Given the description of an element on the screen output the (x, y) to click on. 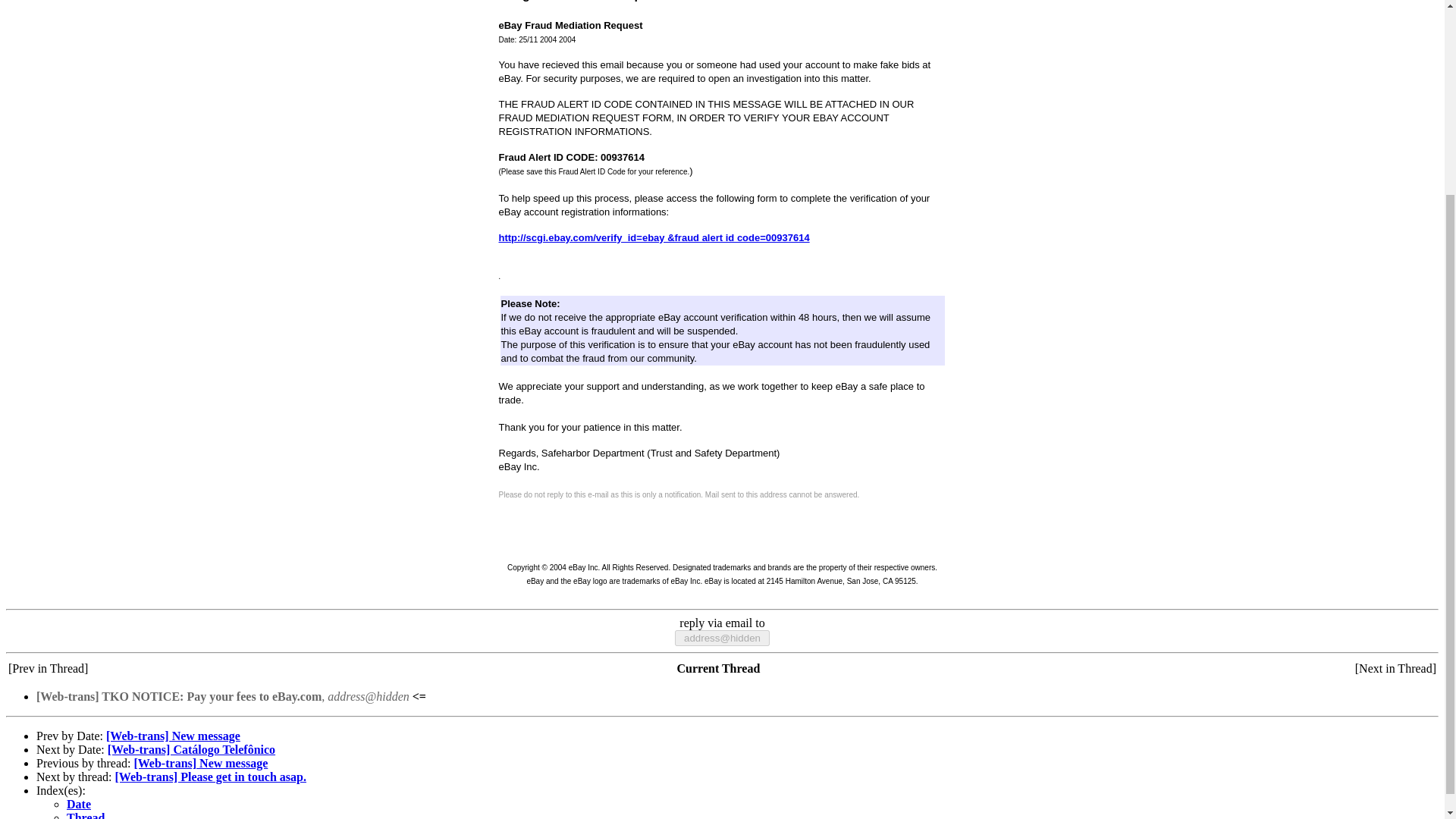
Date (78, 803)
